Given the description of an element on the screen output the (x, y) to click on. 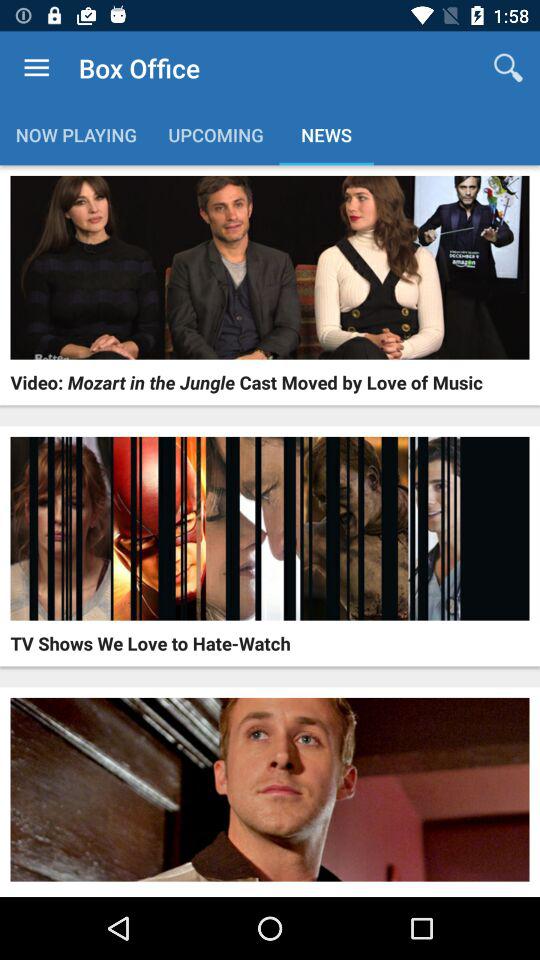
open tv shows we icon (150, 643)
